Given the description of an element on the screen output the (x, y) to click on. 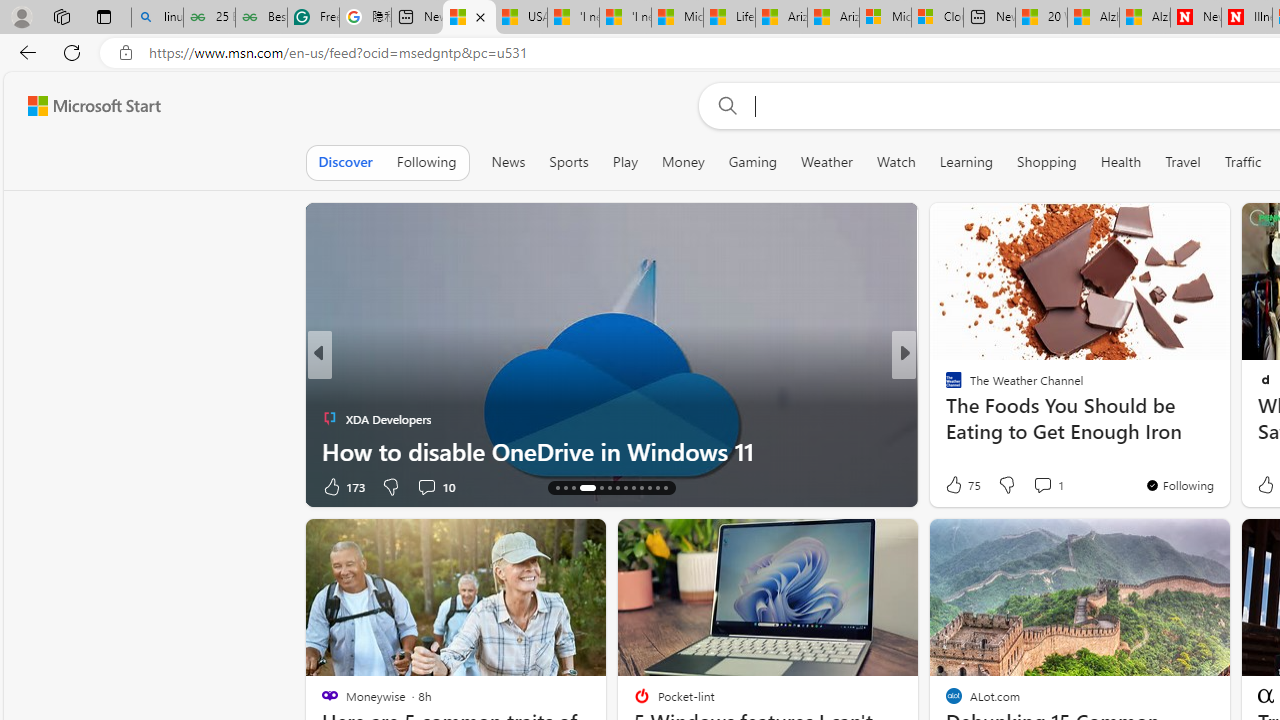
25 Basic Linux Commands For Beginners - GeeksforGeeks (209, 17)
AutomationID: tab-25 (656, 487)
linux basic - Search (157, 17)
The Telegraph (944, 386)
AutomationID: tab-19 (609, 487)
View comments 5 Comment (1036, 485)
173 Like (342, 486)
Cloud Computing Services | Microsoft Azure (936, 17)
View comments 40 Comment (1044, 486)
